Given the description of an element on the screen output the (x, y) to click on. 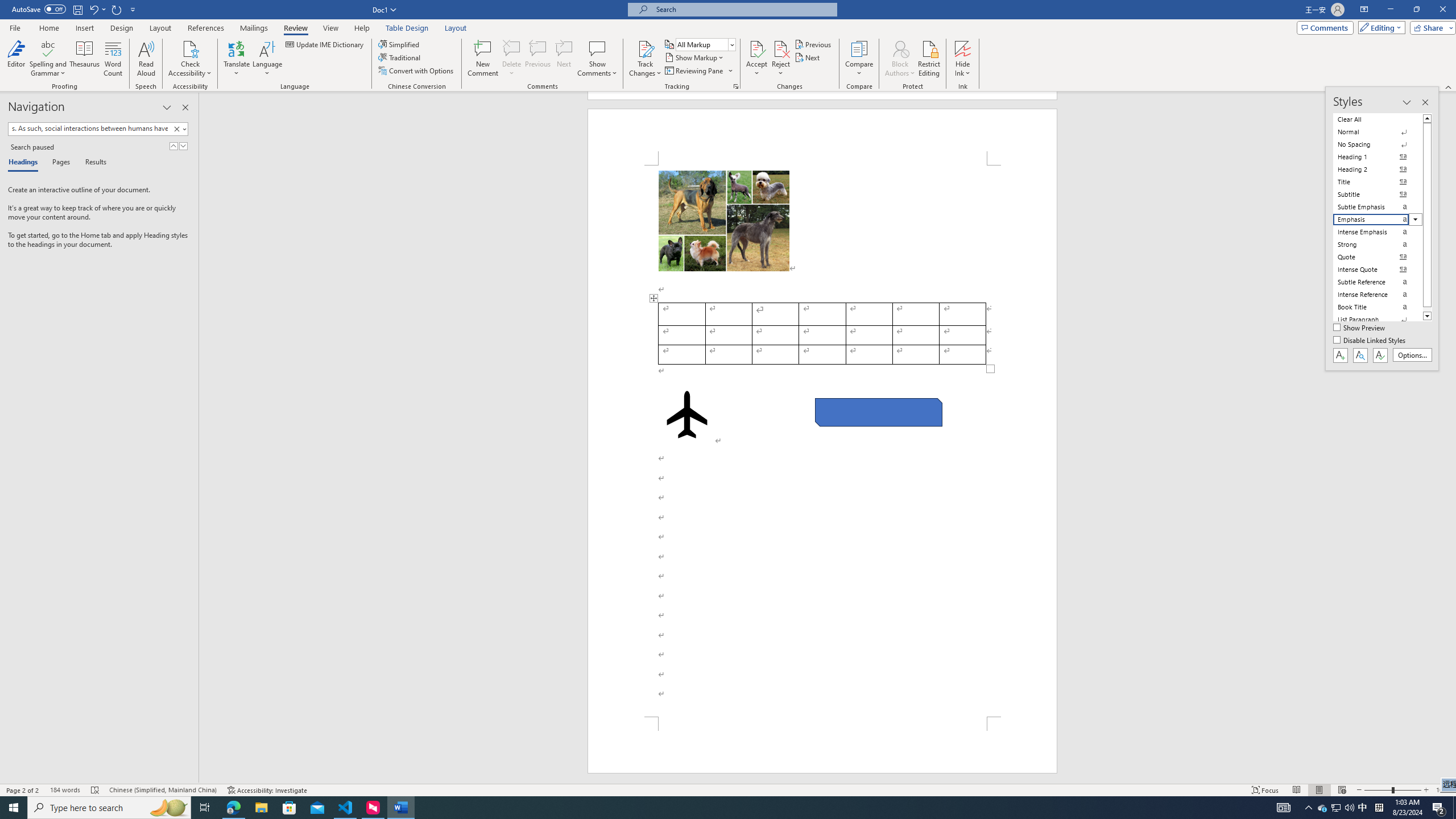
Translate (236, 58)
Intense Reference (1377, 294)
Read Aloud (145, 58)
No Spacing (1377, 144)
Zoom 104% (1443, 790)
Undo Style (92, 9)
